Given the description of an element on the screen output the (x, y) to click on. 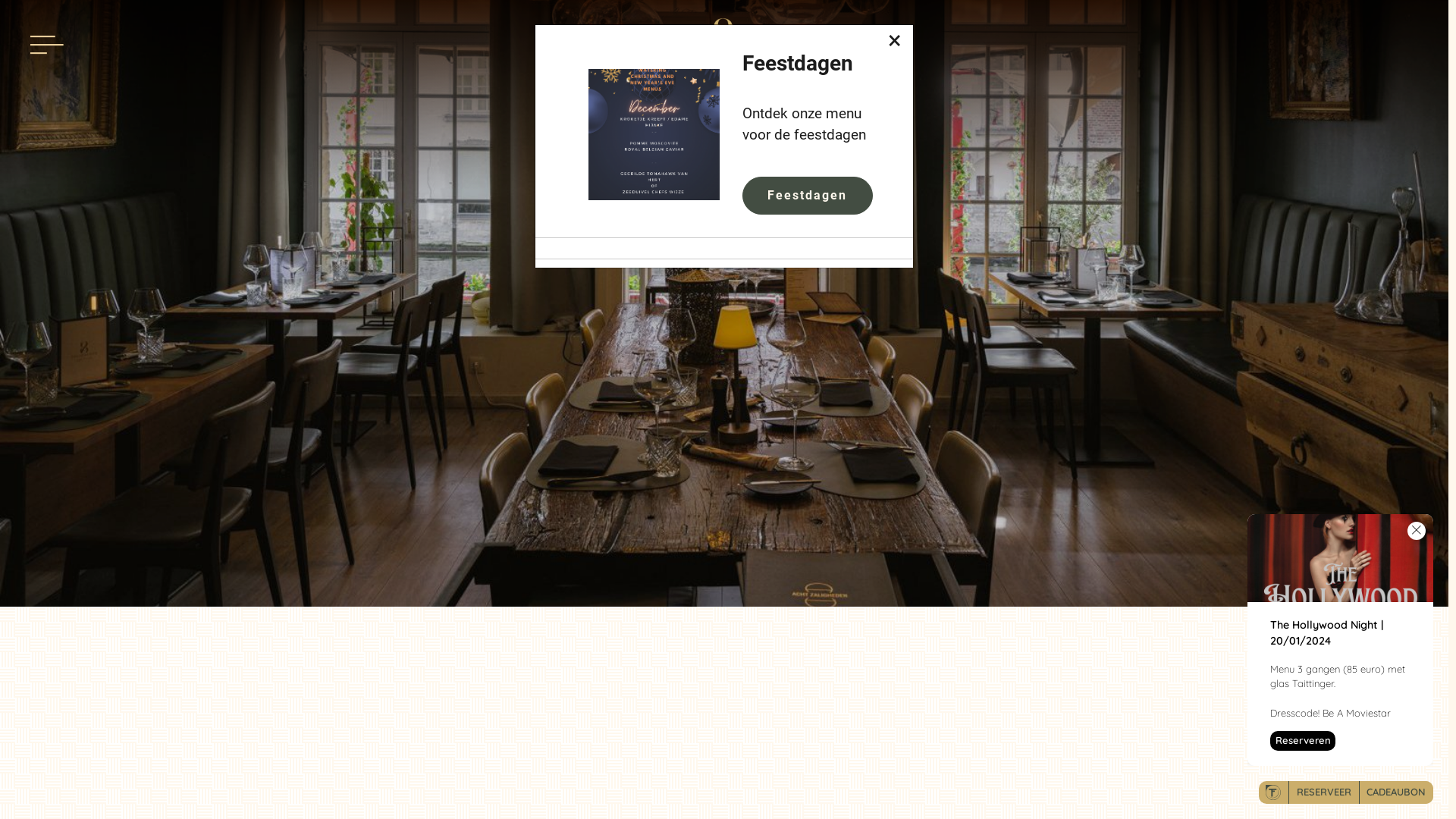
Feestdagen Element type: text (806, 195)
